Given the description of an element on the screen output the (x, y) to click on. 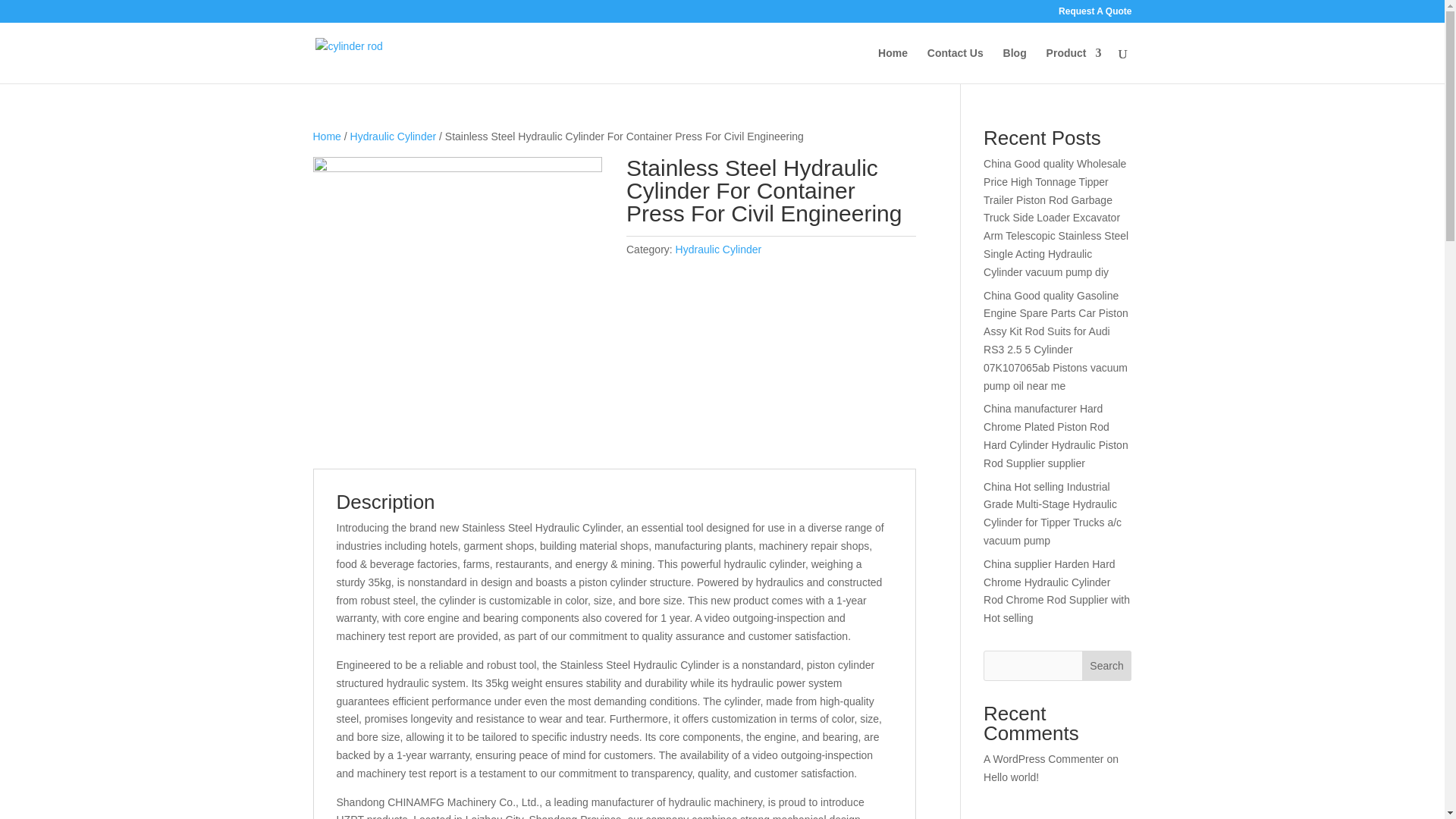
Hb873fdc1423e4131819fab4fc4a04078I.webp (457, 301)
A WordPress Commenter (1043, 758)
Search (1106, 665)
Request A Quote (1094, 14)
Home (326, 136)
Product (1074, 65)
Contact Us (955, 65)
Hydraulic Cylinder (393, 136)
Hydraulic Cylinder (718, 249)
Hello world! (1011, 776)
